Given the description of an element on the screen output the (x, y) to click on. 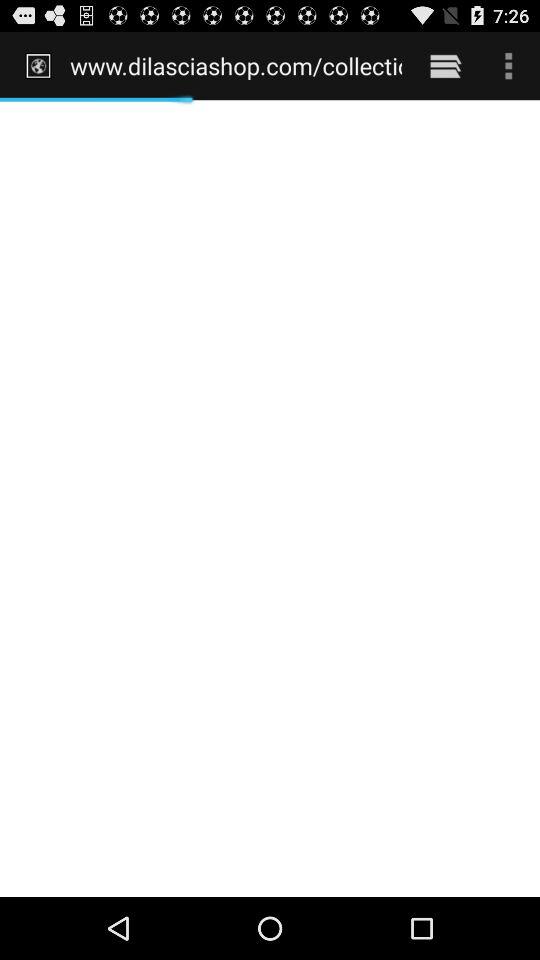
open icon next to www dilasciashop com item (444, 65)
